Given the description of an element on the screen output the (x, y) to click on. 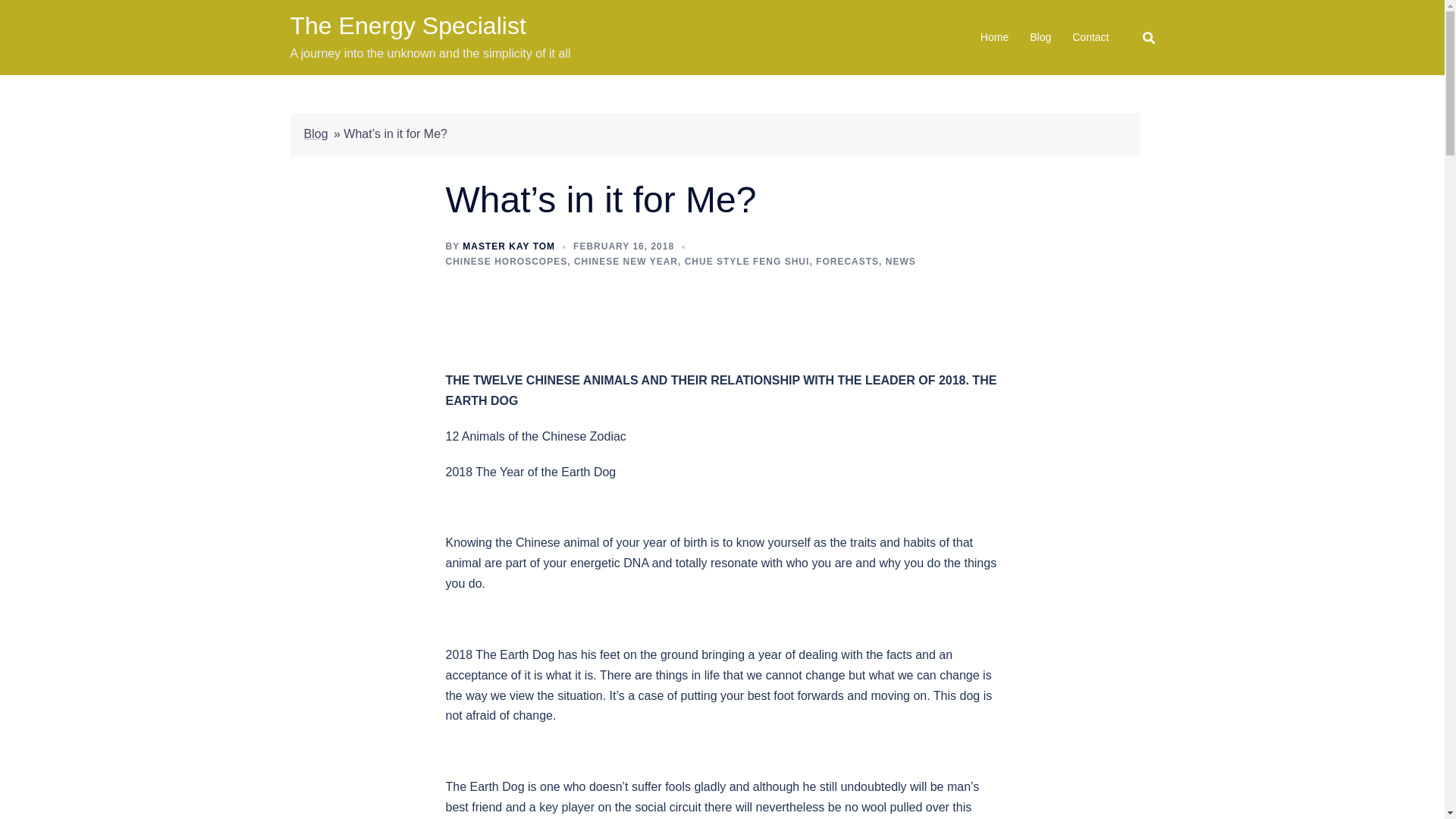
Blog (1040, 37)
FORECASTS (847, 261)
The Energy Specialist (407, 25)
CHINESE NEW YEAR (625, 261)
CHINESE HOROSCOPES (506, 261)
Contact (1089, 37)
Blog (314, 133)
NEWS (900, 261)
Home (994, 37)
MASTER KAY TOM (508, 245)
FEBRUARY 16, 2018 (623, 245)
CHUE STYLE FENG SHUI (746, 261)
